Given the description of an element on the screen output the (x, y) to click on. 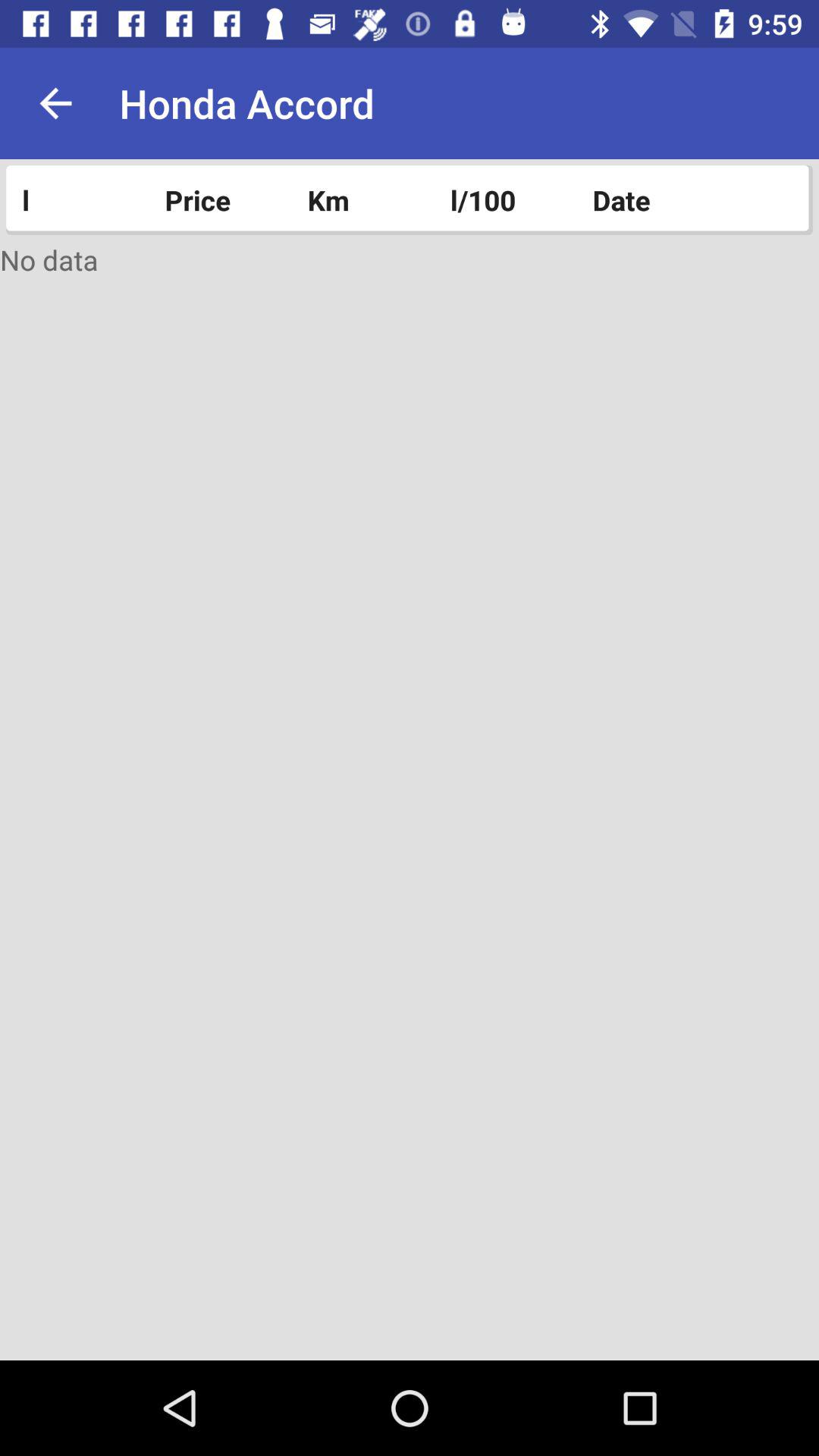
click app to the left of honda accord icon (55, 103)
